Given the description of an element on the screen output the (x, y) to click on. 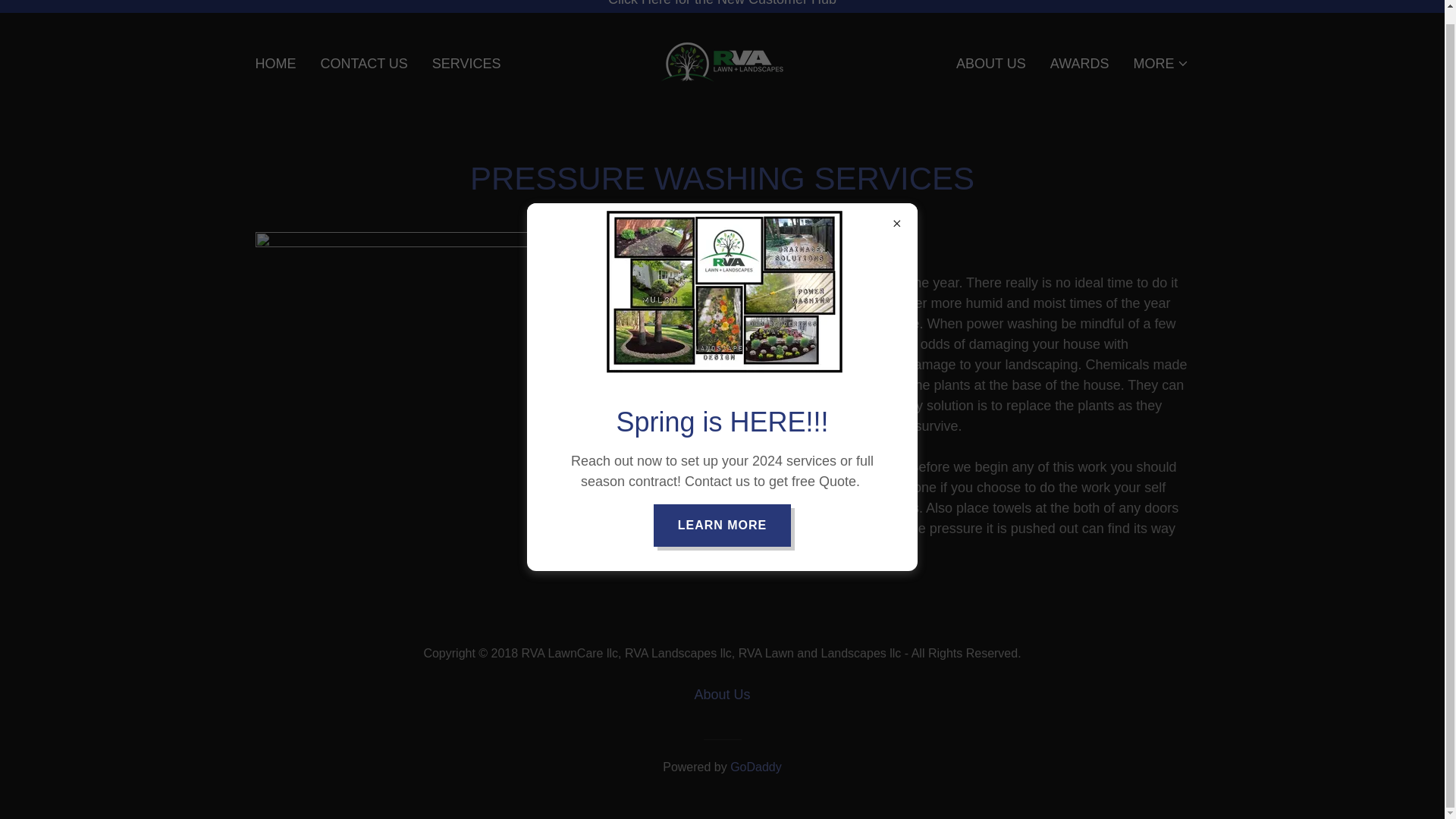
ABOUT US (991, 62)
GoDaddy (755, 766)
RVA LawnCare (722, 62)
MORE (1160, 63)
CONTACT US (363, 62)
LEARN MORE (722, 510)
HOME (274, 62)
AWARDS (1079, 62)
About Us (721, 694)
SERVICES (466, 62)
